Given the description of an element on the screen output the (x, y) to click on. 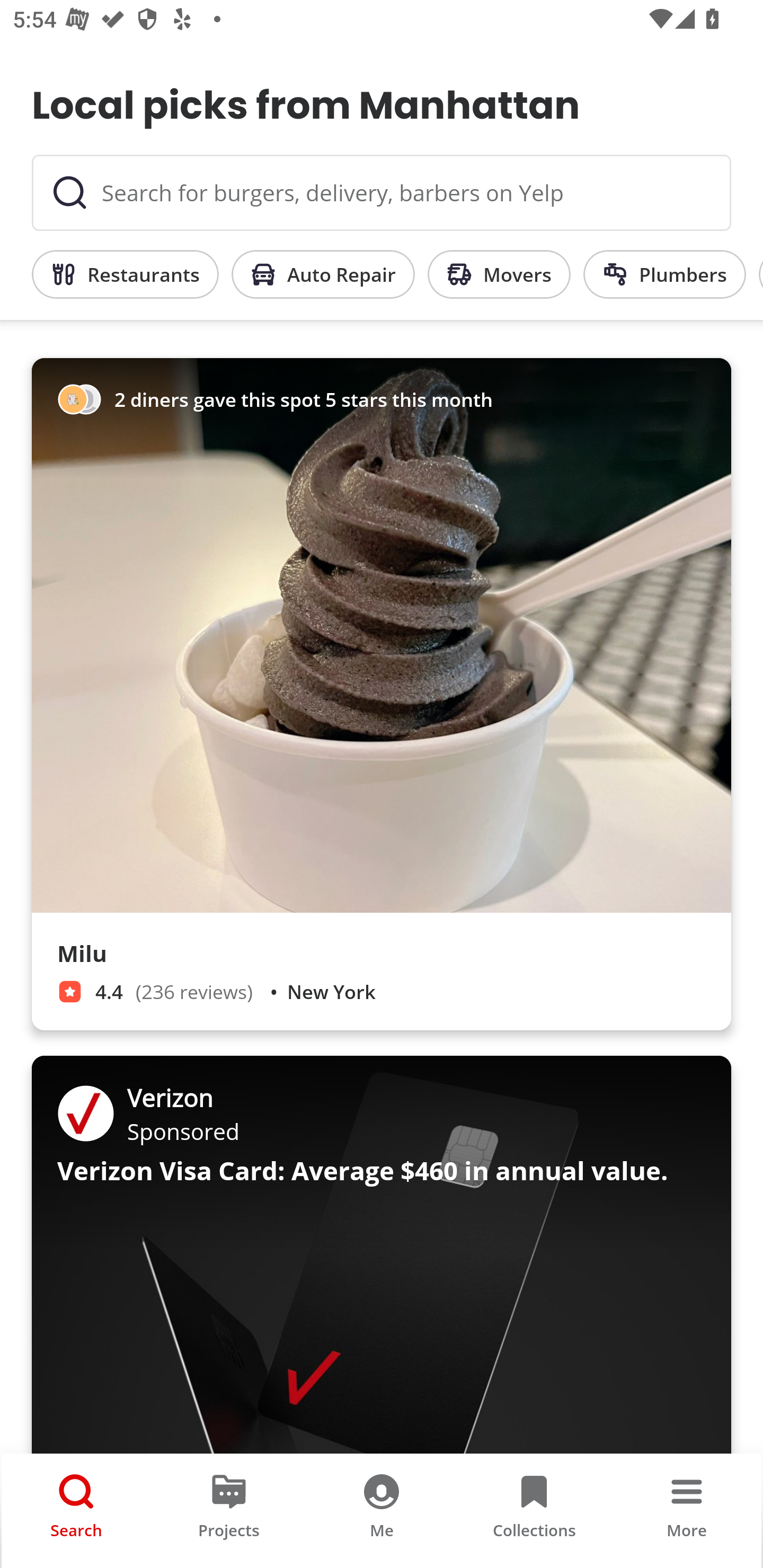
Search for burgers, delivery, barbers on Yelp (381, 192)
